Given the description of an element on the screen output the (x, y) to click on. 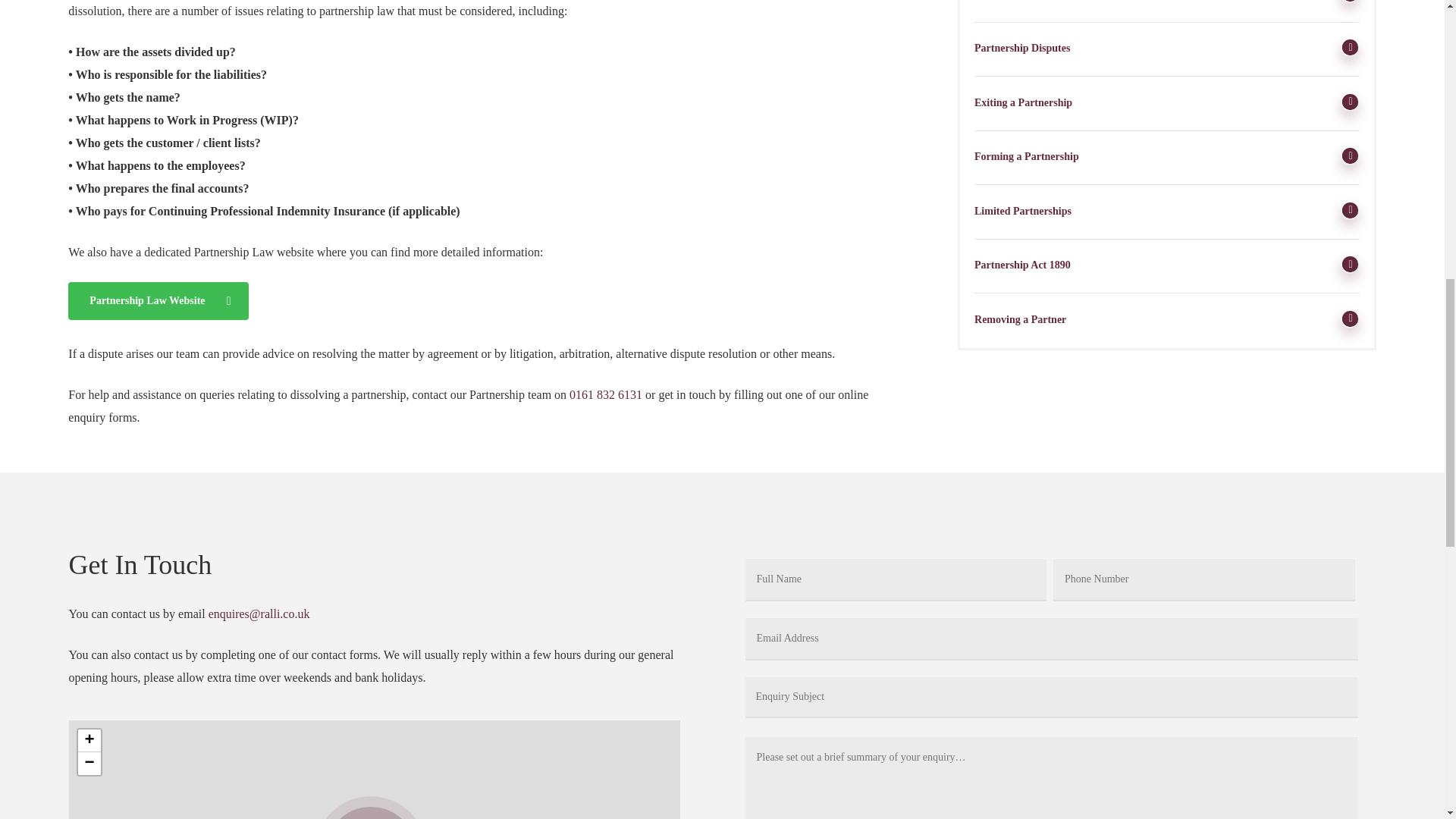
Zoom out (88, 763)
Zoom in (88, 740)
